Given the description of an element on the screen output the (x, y) to click on. 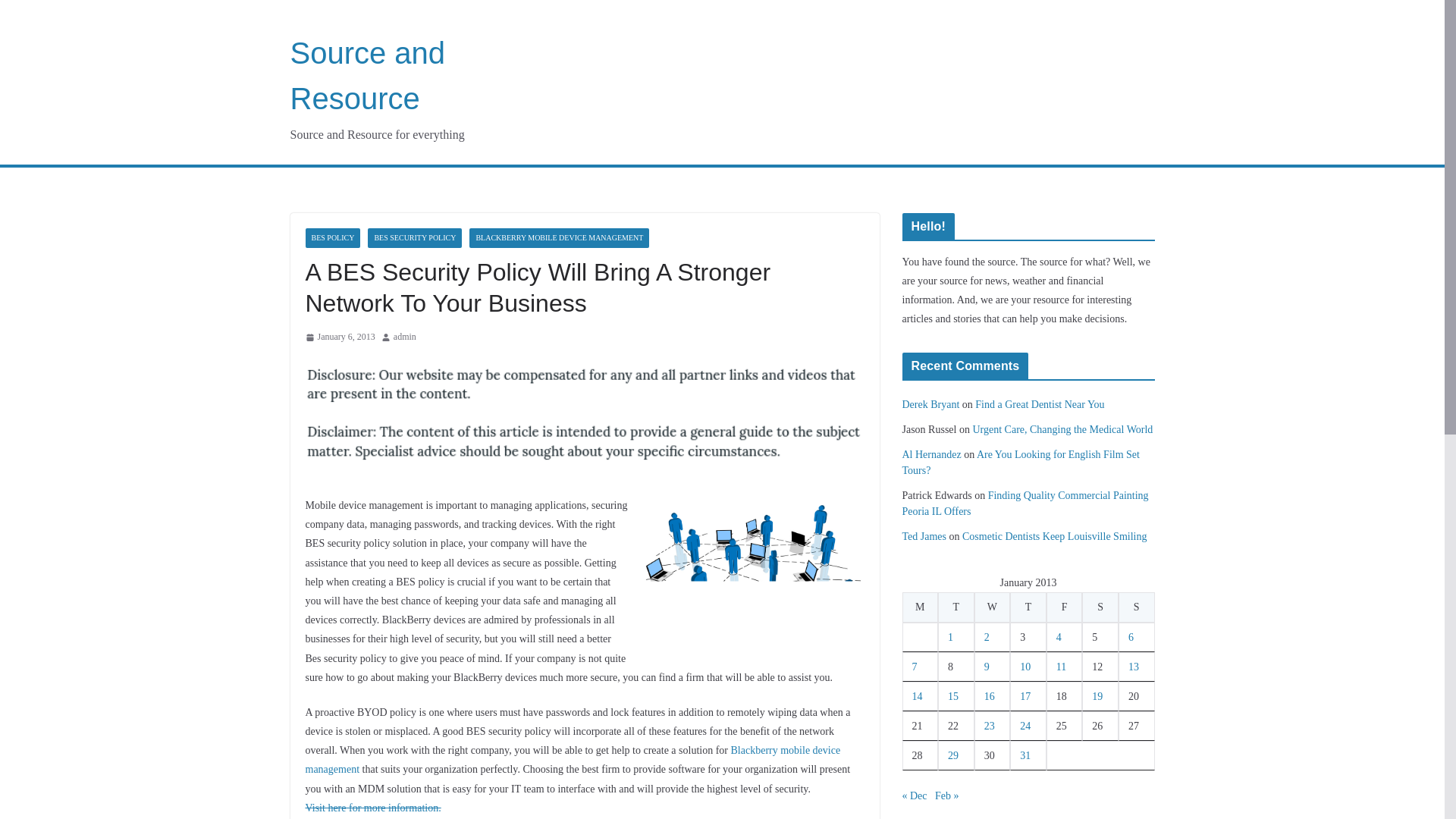
14 (916, 696)
Derek Bryant (930, 404)
16 (989, 696)
Bes security policy, Bes security policy (372, 808)
Source and Resource (367, 75)
Urgent Care, Changing the Medical World (1062, 429)
Cosmetic Dentists Keep Louisville Smiling (1054, 536)
23 (989, 726)
9:13 pm (339, 337)
Tuesday (955, 606)
